Given the description of an element on the screen output the (x, y) to click on. 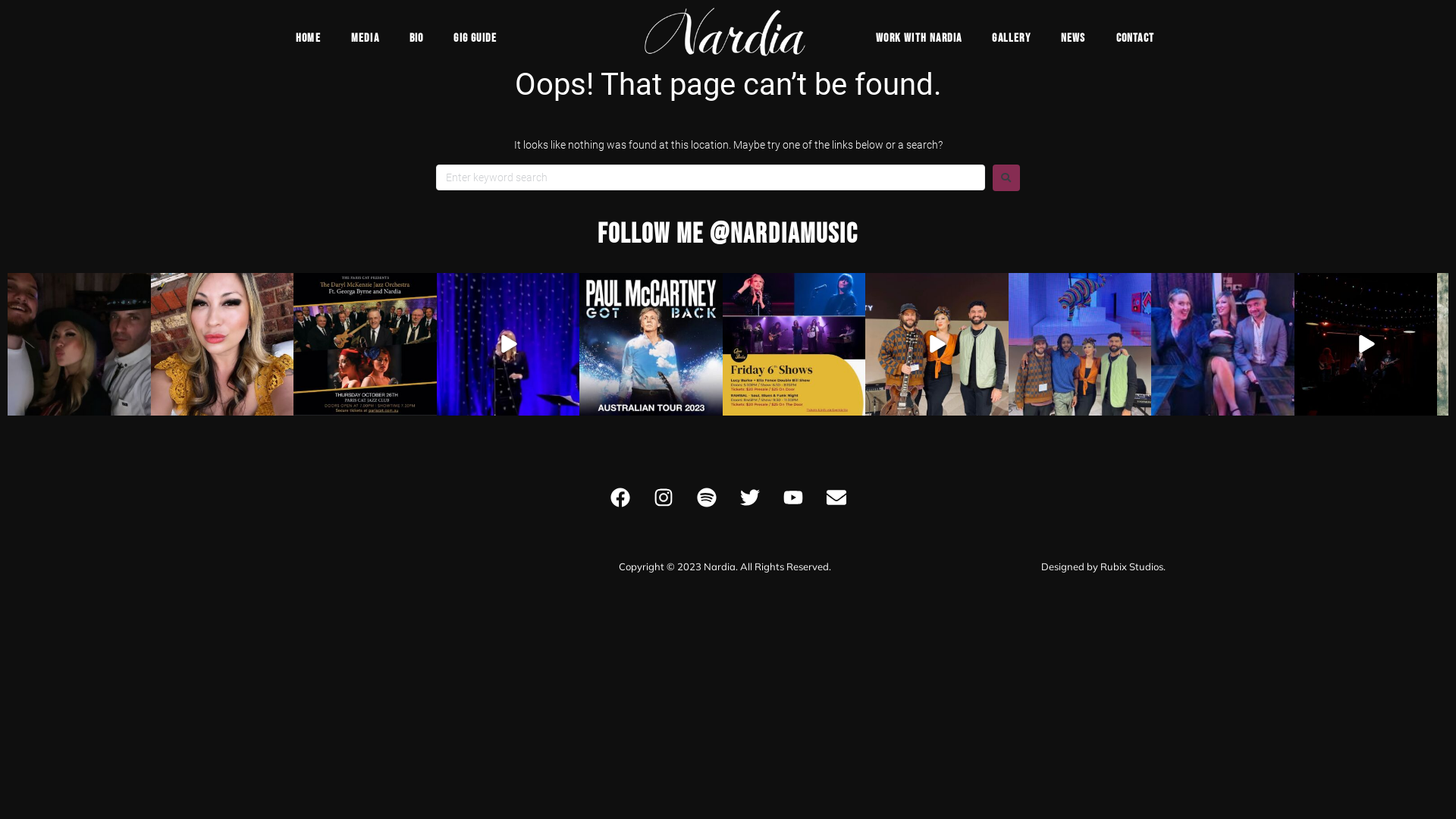
BIO Element type: text (416, 38)
Rubix Studios Element type: text (1131, 566)
CONTACT Element type: text (1135, 38)
NEWS Element type: text (1073, 38)
MEDIA Element type: text (364, 38)
Nardia Element type: text (719, 566)
@Nardiamusic Element type: text (783, 234)
GIG GUIDE Element type: text (474, 38)
GALLERY Element type: text (1010, 38)
WORK WITH NARDIA Element type: text (918, 38)
HOME Element type: text (307, 38)
